Given the description of an element on the screen output the (x, y) to click on. 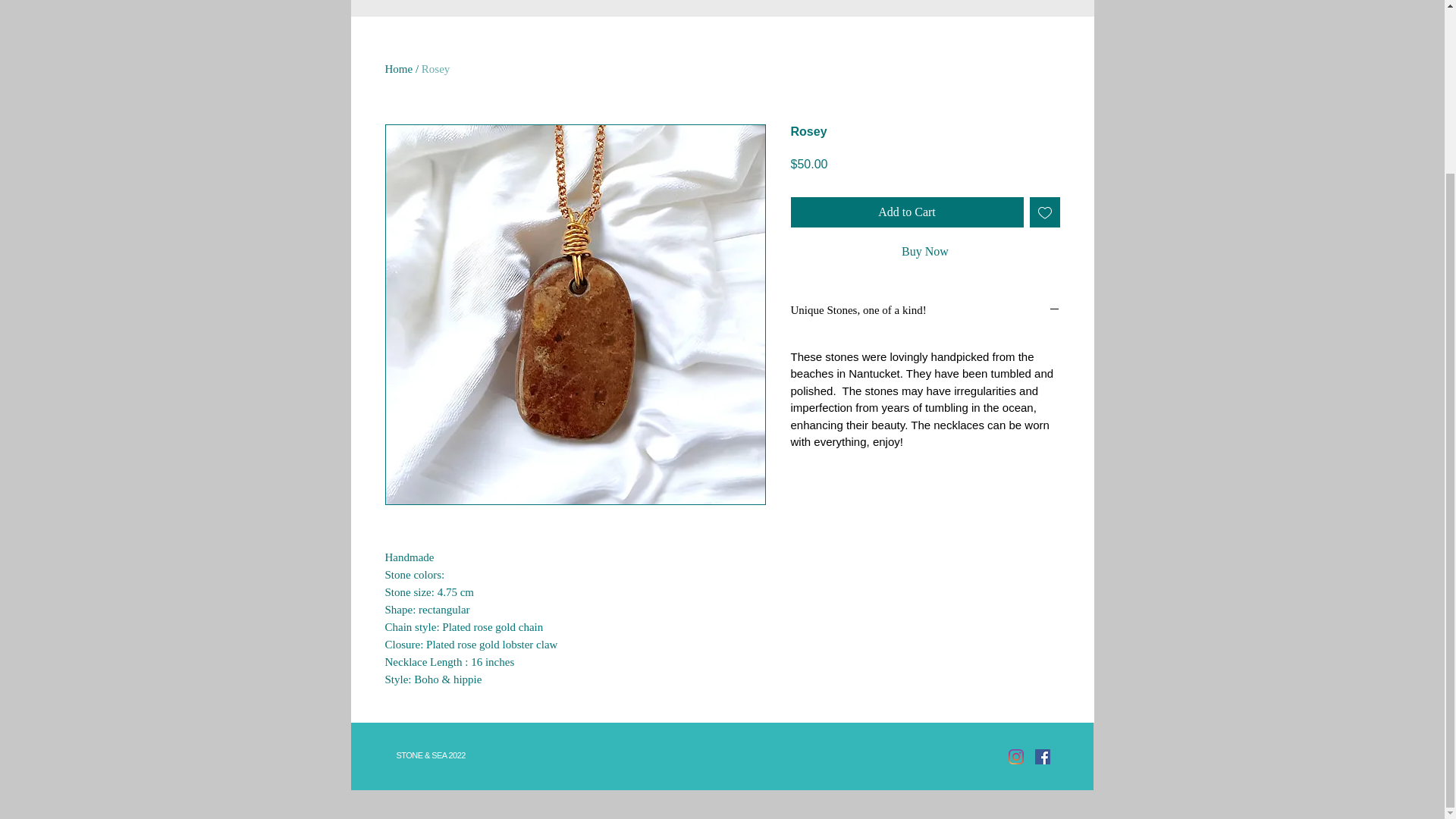
Add to Cart (906, 212)
Home (399, 69)
Rosey (435, 69)
Buy Now (924, 251)
Unique Stones, one of a kind! (924, 311)
